Given the description of an element on the screen output the (x, y) to click on. 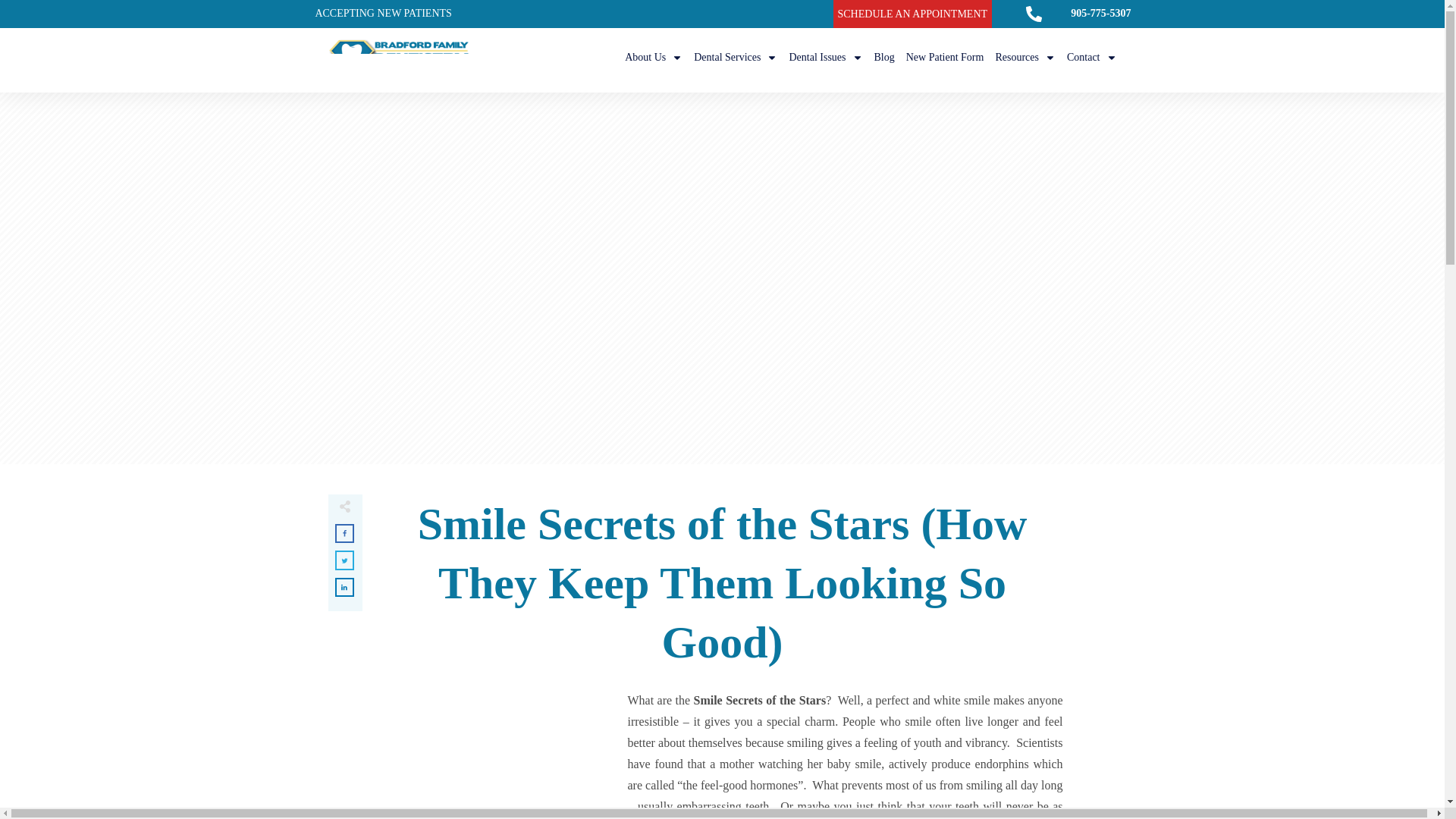
ACCEPTING NEW PATIENTS (382, 12)
About Us (653, 56)
SCHEDULE AN APPOINTMENT (912, 13)
About Us (653, 56)
Dental Services (735, 56)
905-775-5307 (1100, 12)
Best Bradford Dental Services (735, 56)
